Given the description of an element on the screen output the (x, y) to click on. 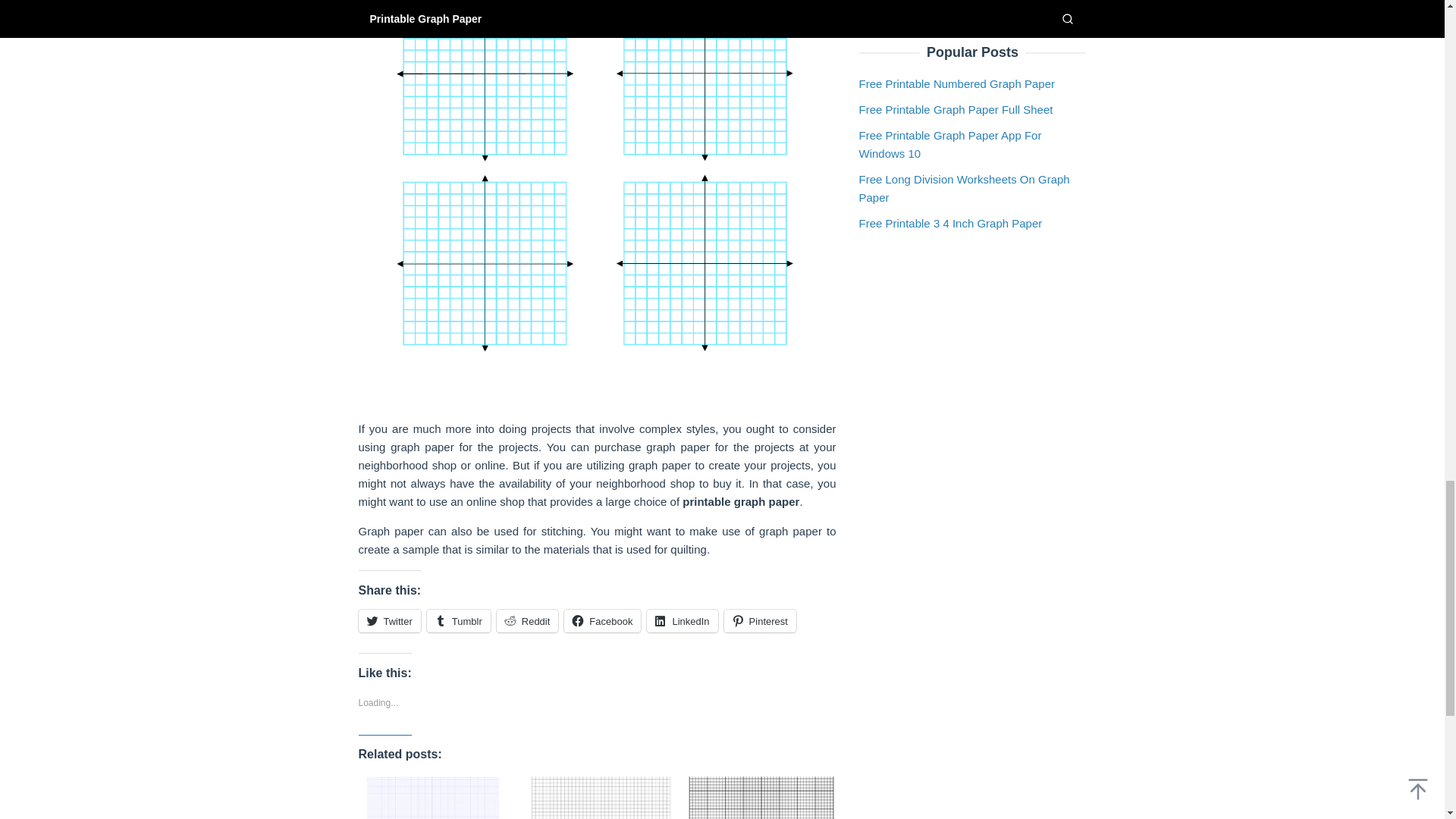
Tumblr (458, 620)
Click to share on LinkedIn (681, 620)
Facebook (602, 620)
Permalink to: Online Graph Paper Free No Download (432, 797)
Click to share on Facebook (602, 620)
Pinterest (759, 620)
Reddit (527, 620)
Click to share on Twitter (389, 620)
Click to share on Pinterest (759, 620)
Twitter (389, 620)
Click to share on Tumblr (458, 620)
LinkedIn (681, 620)
Click to share on Reddit (527, 620)
Permalink to: Half Centimeter Graph Paper Printable (596, 797)
